Given the description of an element on the screen output the (x, y) to click on. 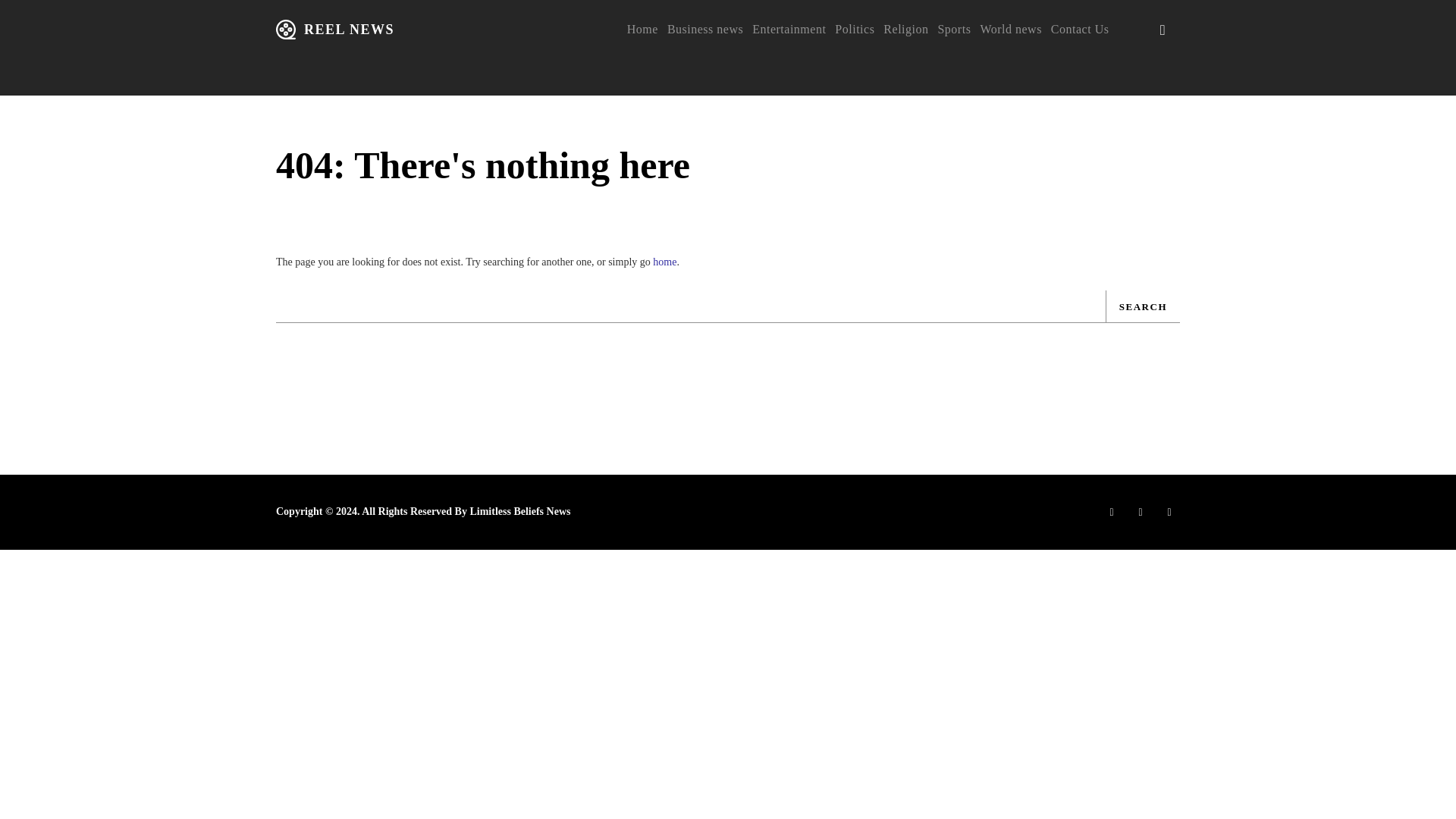
Religion (905, 29)
SEARCH (1142, 306)
Entertainment (788, 29)
home (664, 261)
Instagram (1140, 511)
Facebook (1111, 511)
Politics (854, 29)
Business news (704, 29)
World news (1010, 29)
Twitter (1168, 511)
